Given the description of an element on the screen output the (x, y) to click on. 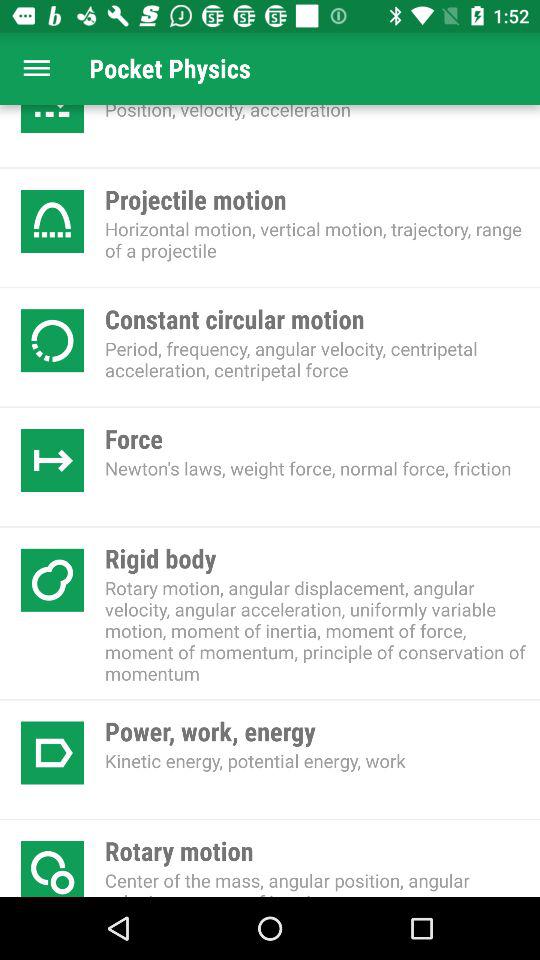
open menu (36, 68)
